Given the description of an element on the screen output the (x, y) to click on. 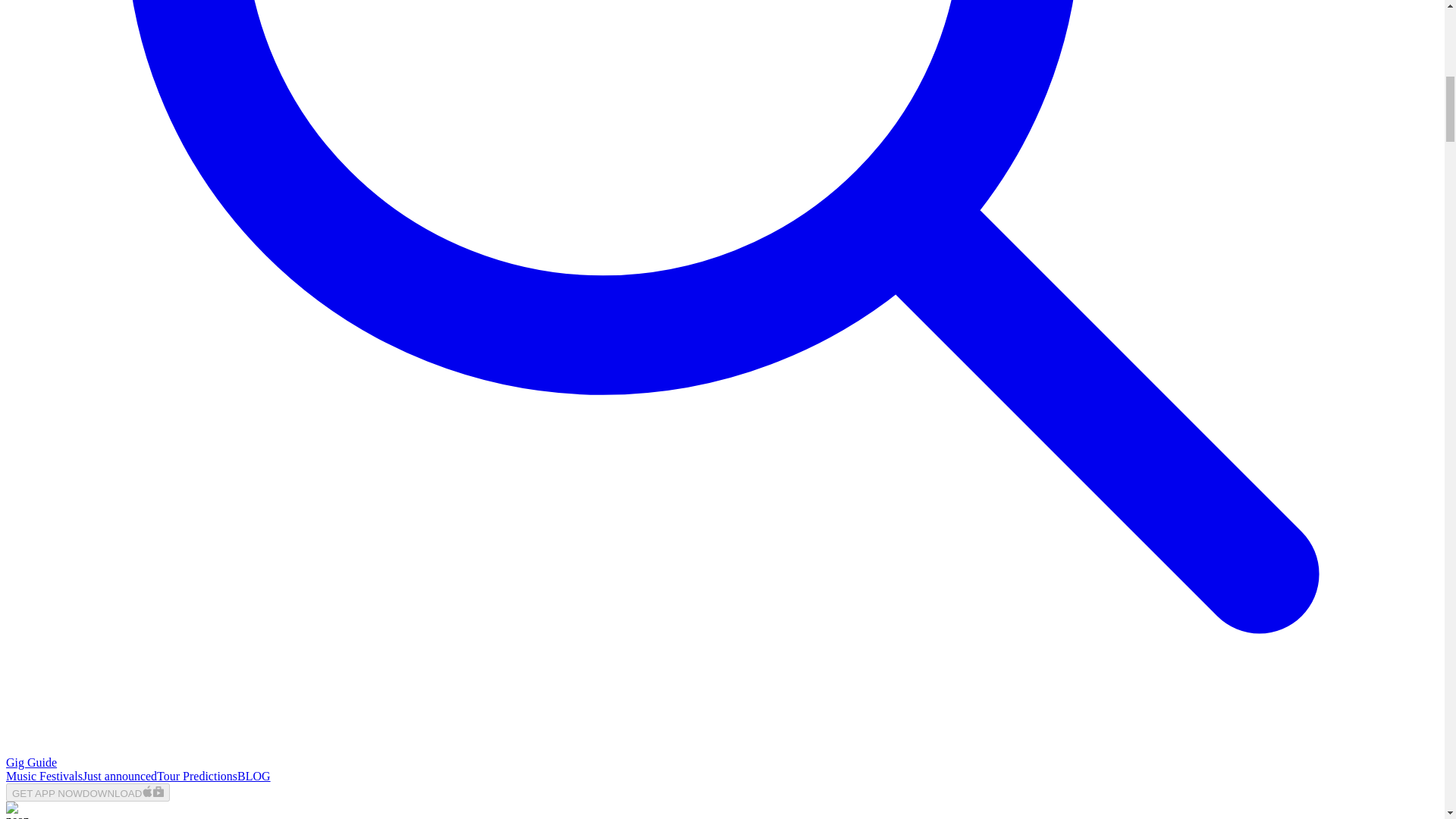
Music Festivals (43, 775)
GET APP NOWDOWNLOAD (87, 791)
Gig Guide (30, 762)
Just announced (119, 775)
Tour Predictions (197, 775)
BLOG (253, 775)
